Given the description of an element on the screen output the (x, y) to click on. 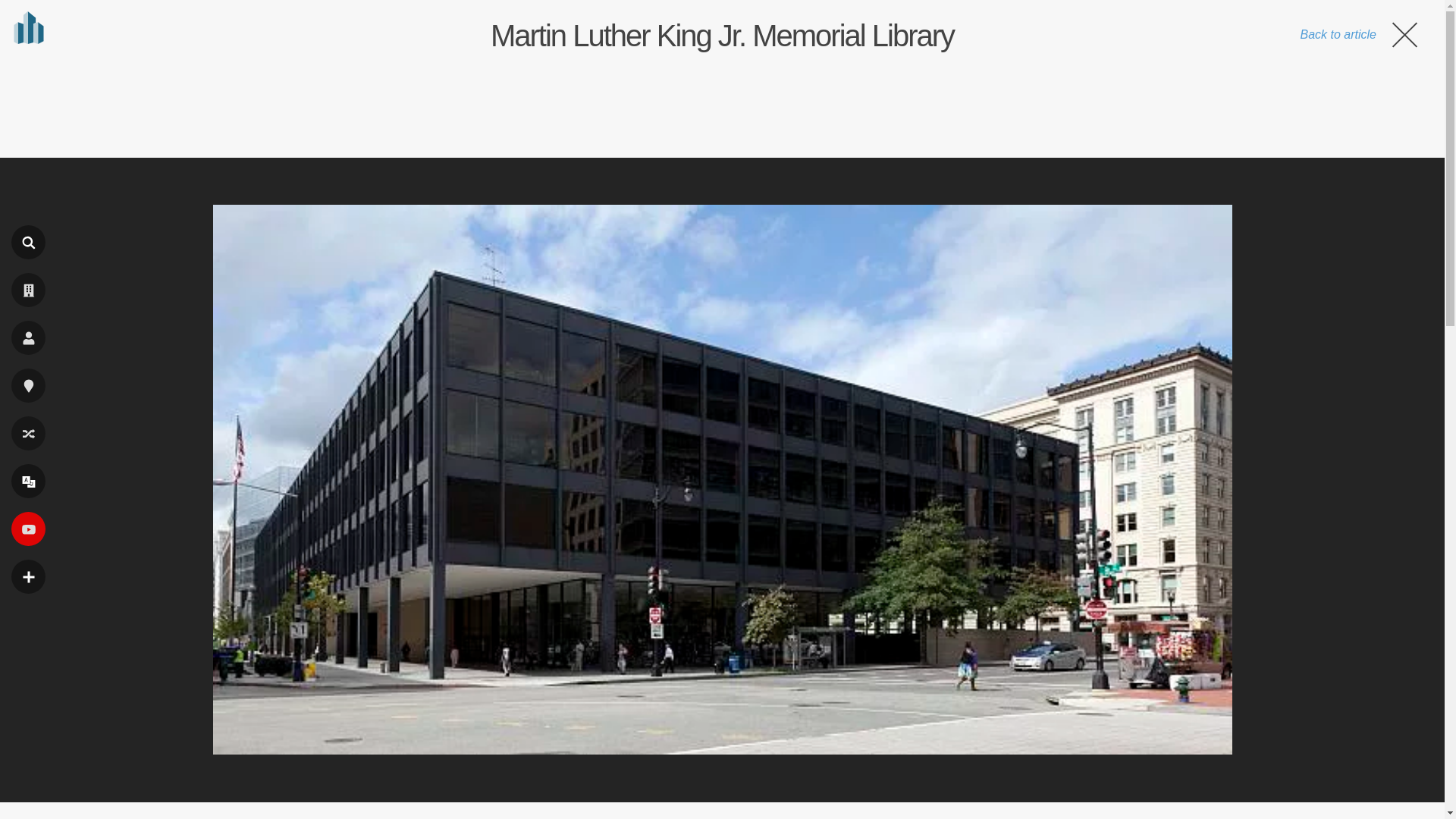
Advertisement (721, 105)
Back to article (1361, 34)
Martin Luther King Jr. Memorial Library (721, 35)
